Given the description of an element on the screen output the (x, y) to click on. 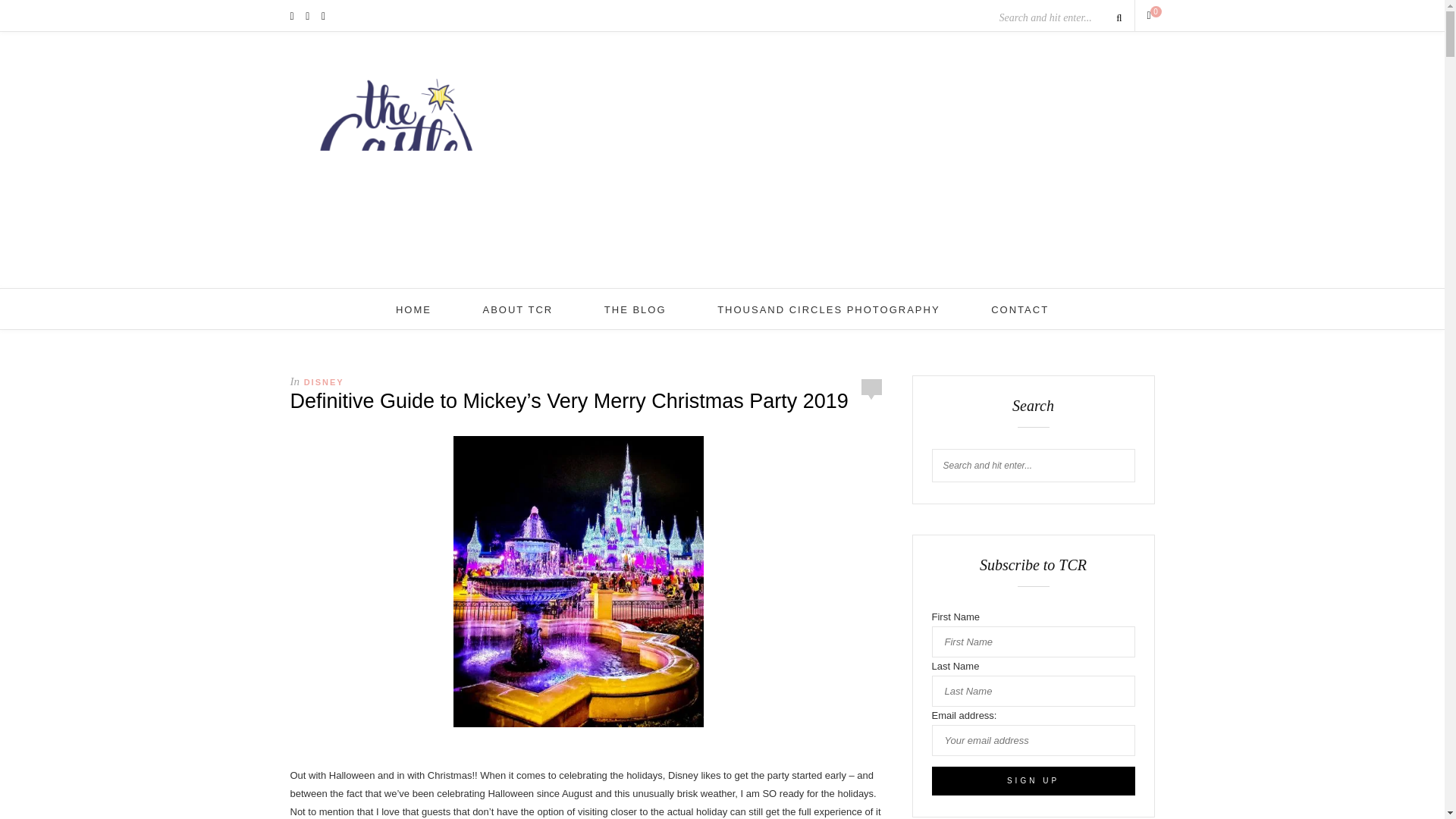
ABOUT TCR (518, 309)
THOUSAND CIRCLES PHOTOGRAPHY (828, 309)
CONTACT (1019, 309)
Sign up (1032, 780)
DISNEY (323, 381)
Sign up (1032, 780)
THE BLOG (635, 309)
